Given the description of an element on the screen output the (x, y) to click on. 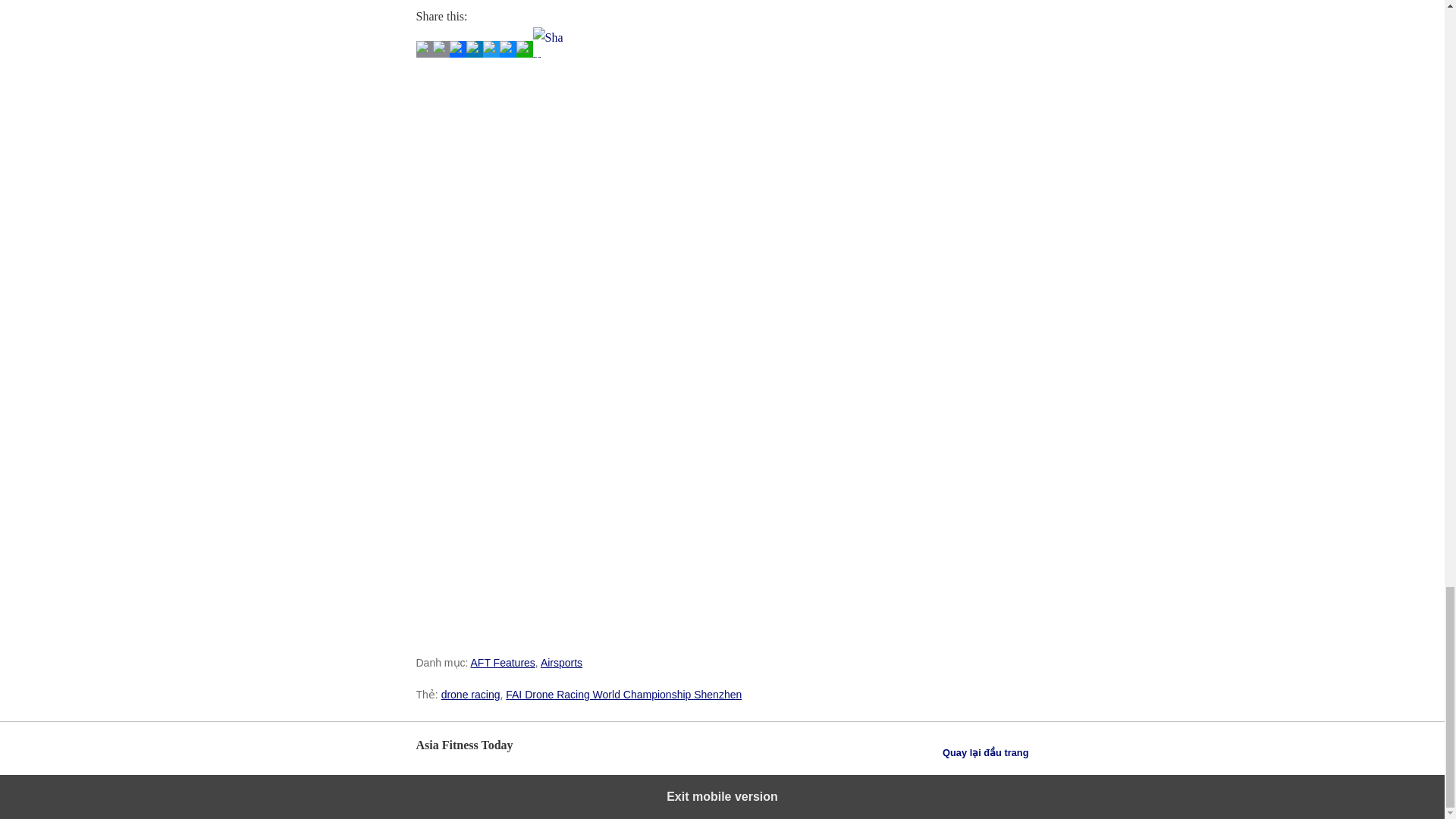
Messenger (507, 52)
AFT Features (502, 662)
Facebook (456, 52)
WhatsApp (523, 52)
Airsports (561, 662)
FAI Drone Racing World Championship Shenzhen (623, 694)
drone racing (470, 694)
Twitter (490, 52)
Copy Link (440, 52)
LinkedIn (473, 52)
